Given the description of an element on the screen output the (x, y) to click on. 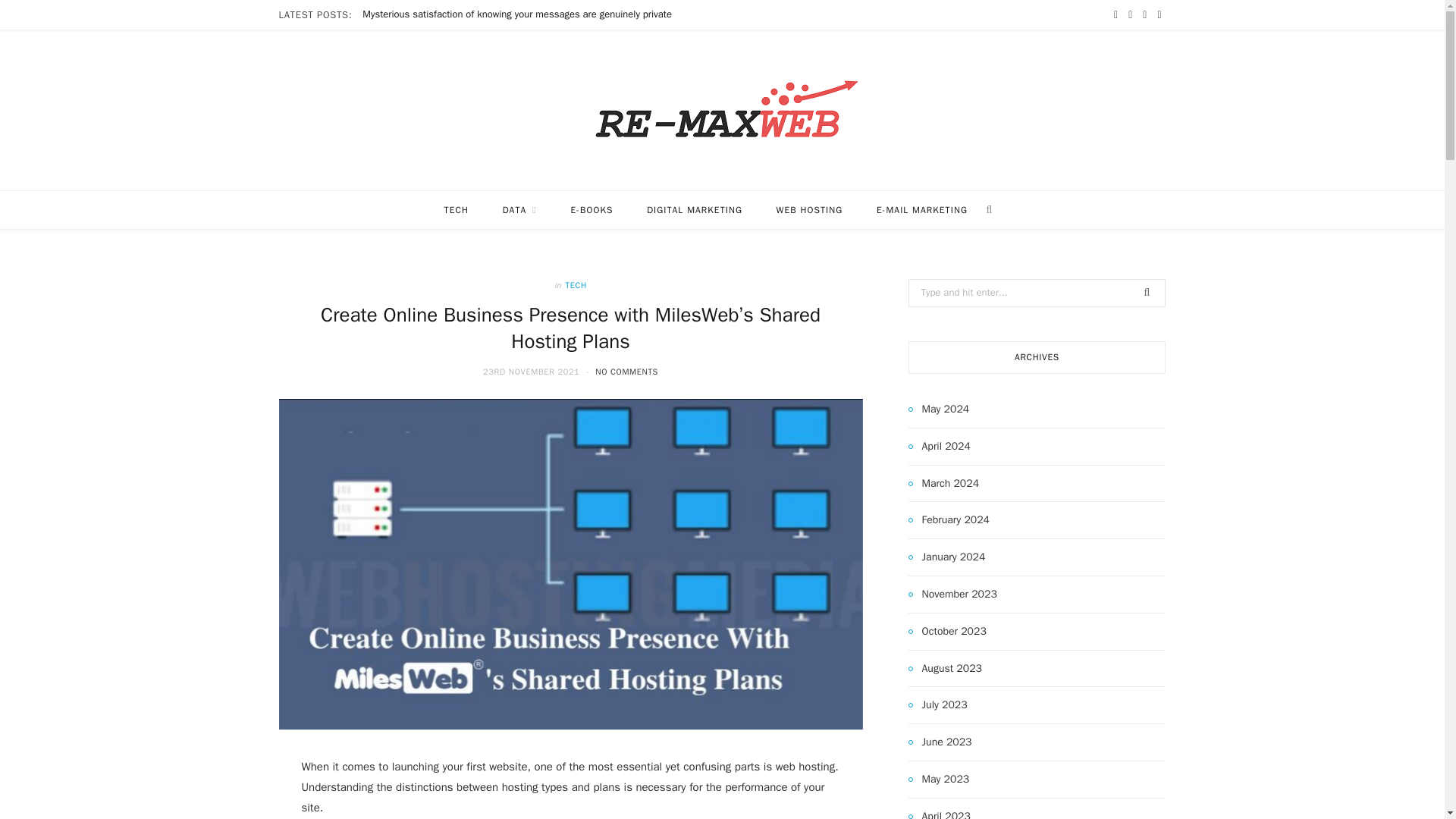
DIGITAL MARKETING (694, 210)
April 2024 (939, 446)
DATA (519, 210)
February 2024 (949, 520)
E-BOOKS (590, 210)
23RD NOVEMBER 2021 (533, 371)
NO COMMENTS (626, 371)
January 2024 (946, 556)
WEB HOSTING (810, 210)
March 2024 (943, 484)
May 2024 (938, 409)
Re-maxweb (722, 110)
TECH (456, 210)
